Given the description of an element on the screen output the (x, y) to click on. 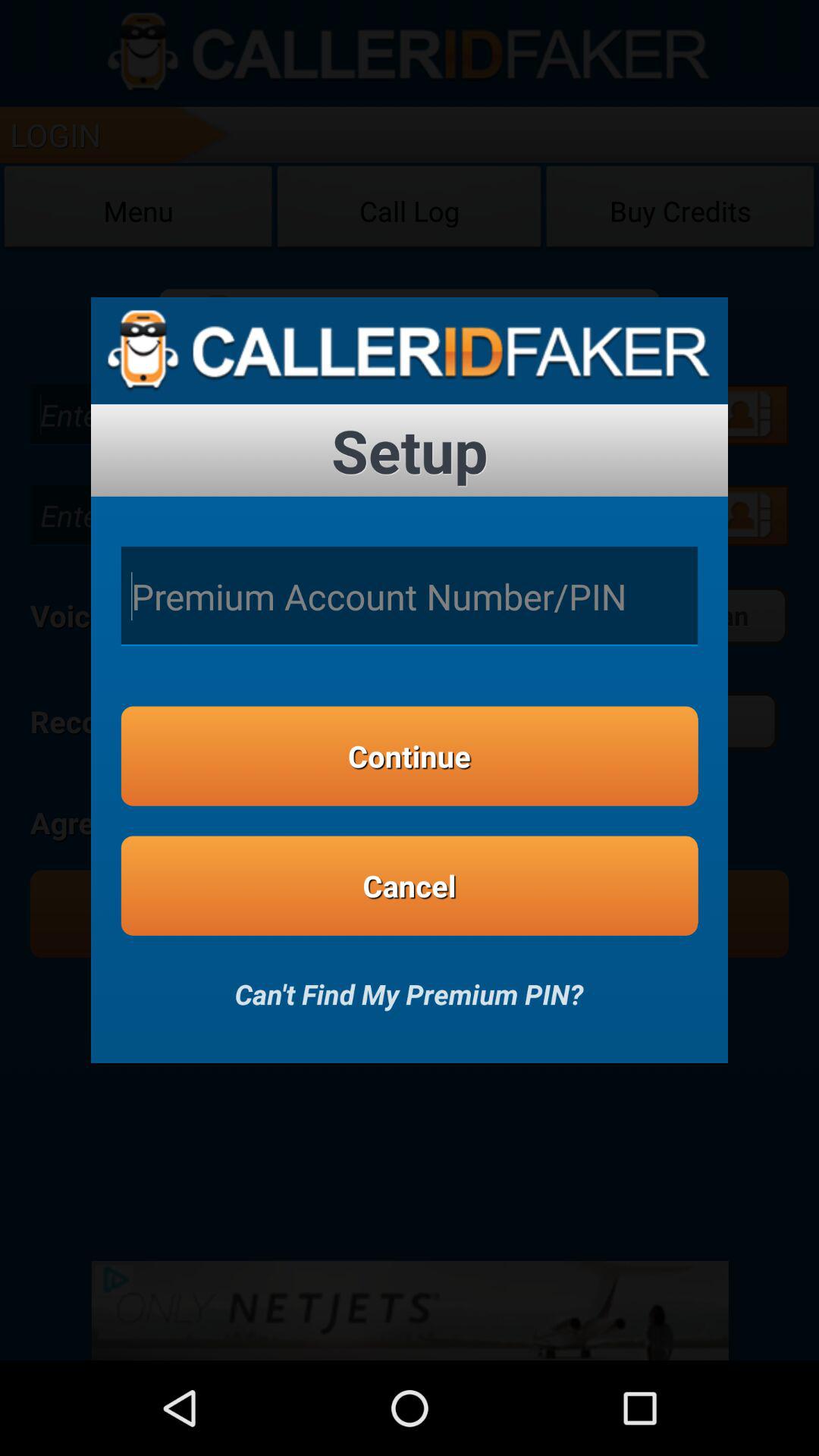
flip until can t find (408, 983)
